Given the description of an element on the screen output the (x, y) to click on. 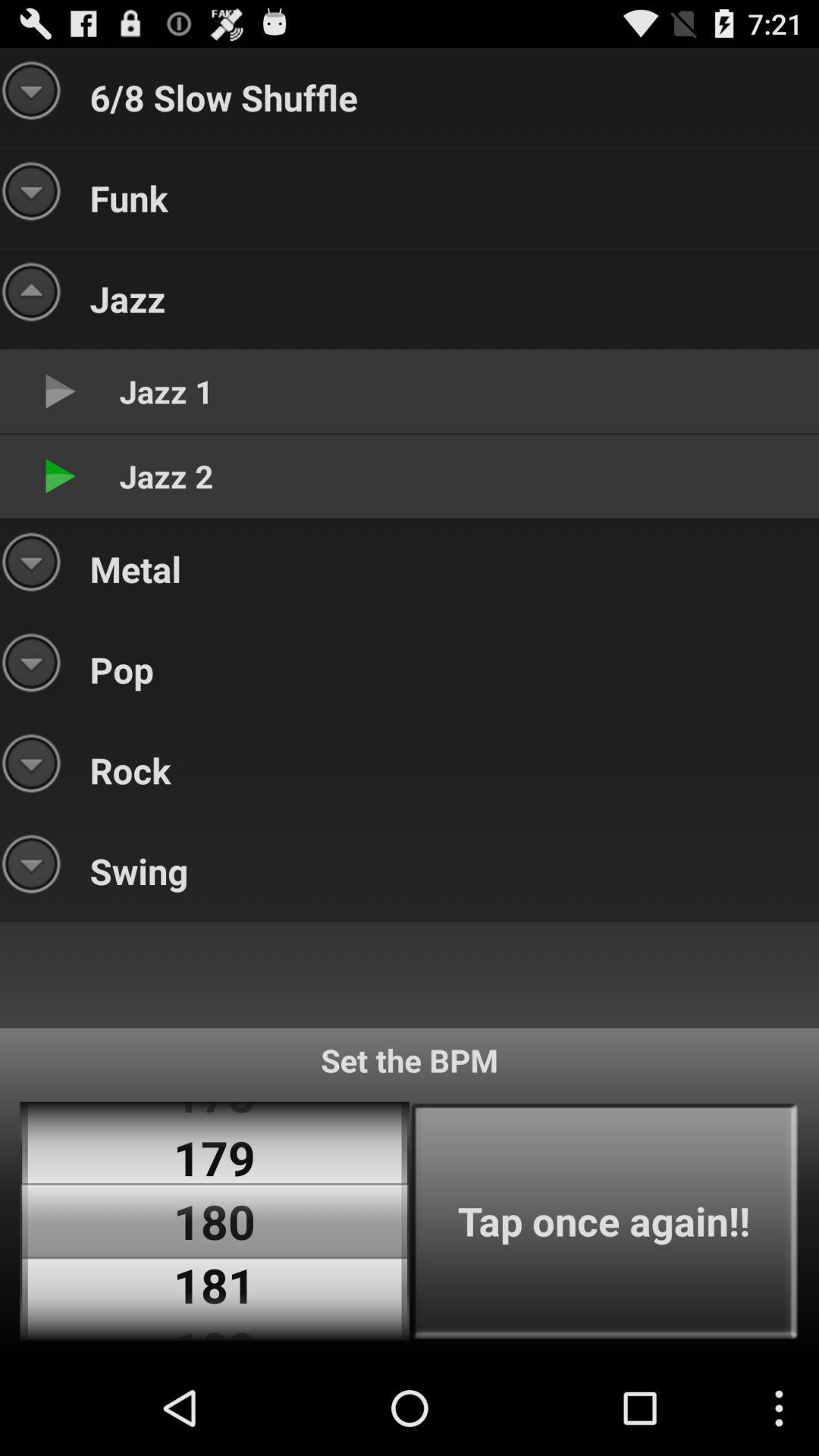
select the icon at the bottom right corner (604, 1220)
